Given the description of an element on the screen output the (x, y) to click on. 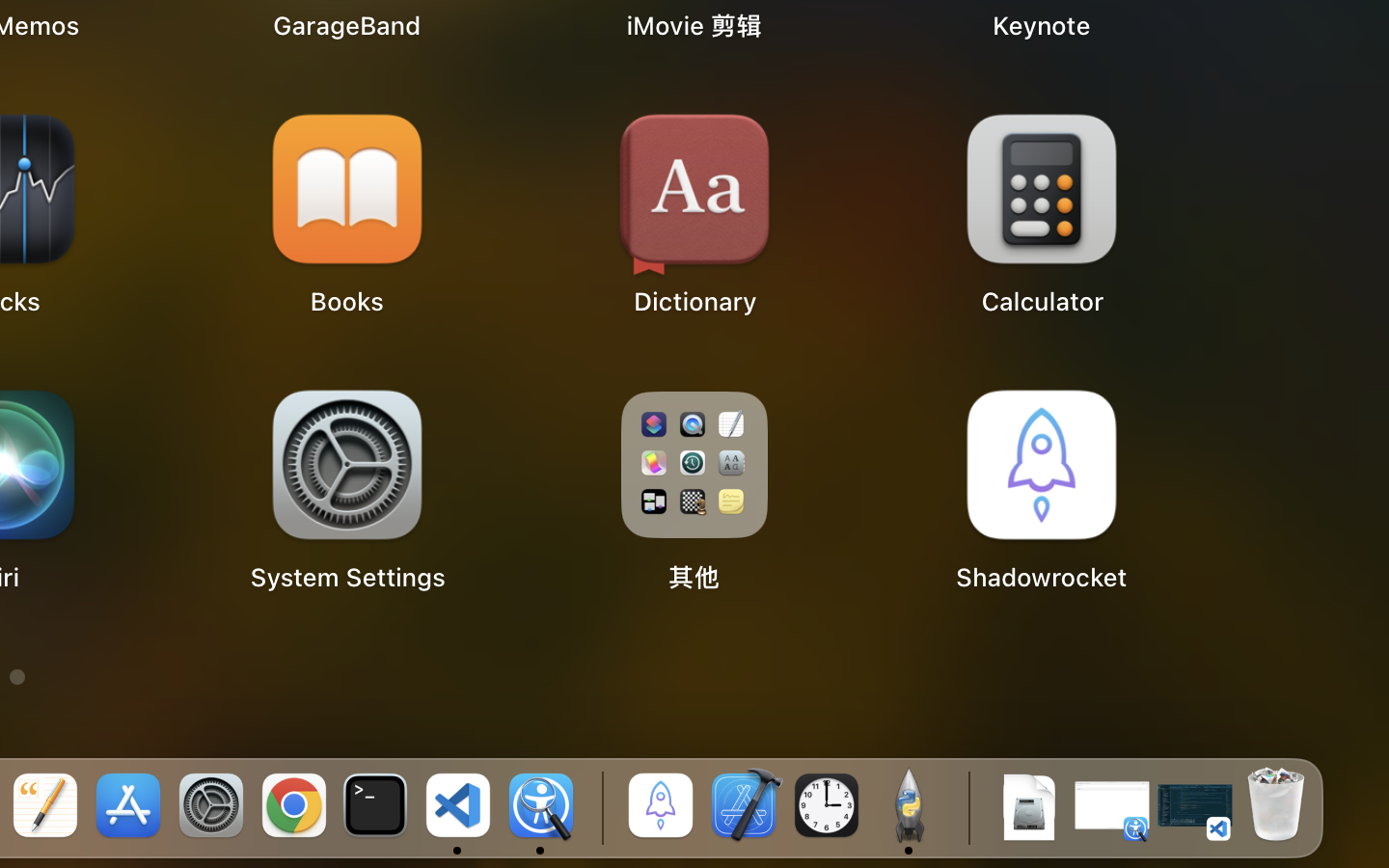
0.4285714328289032 Element type: AXDockItem (598, 807)
